Given the description of an element on the screen output the (x, y) to click on. 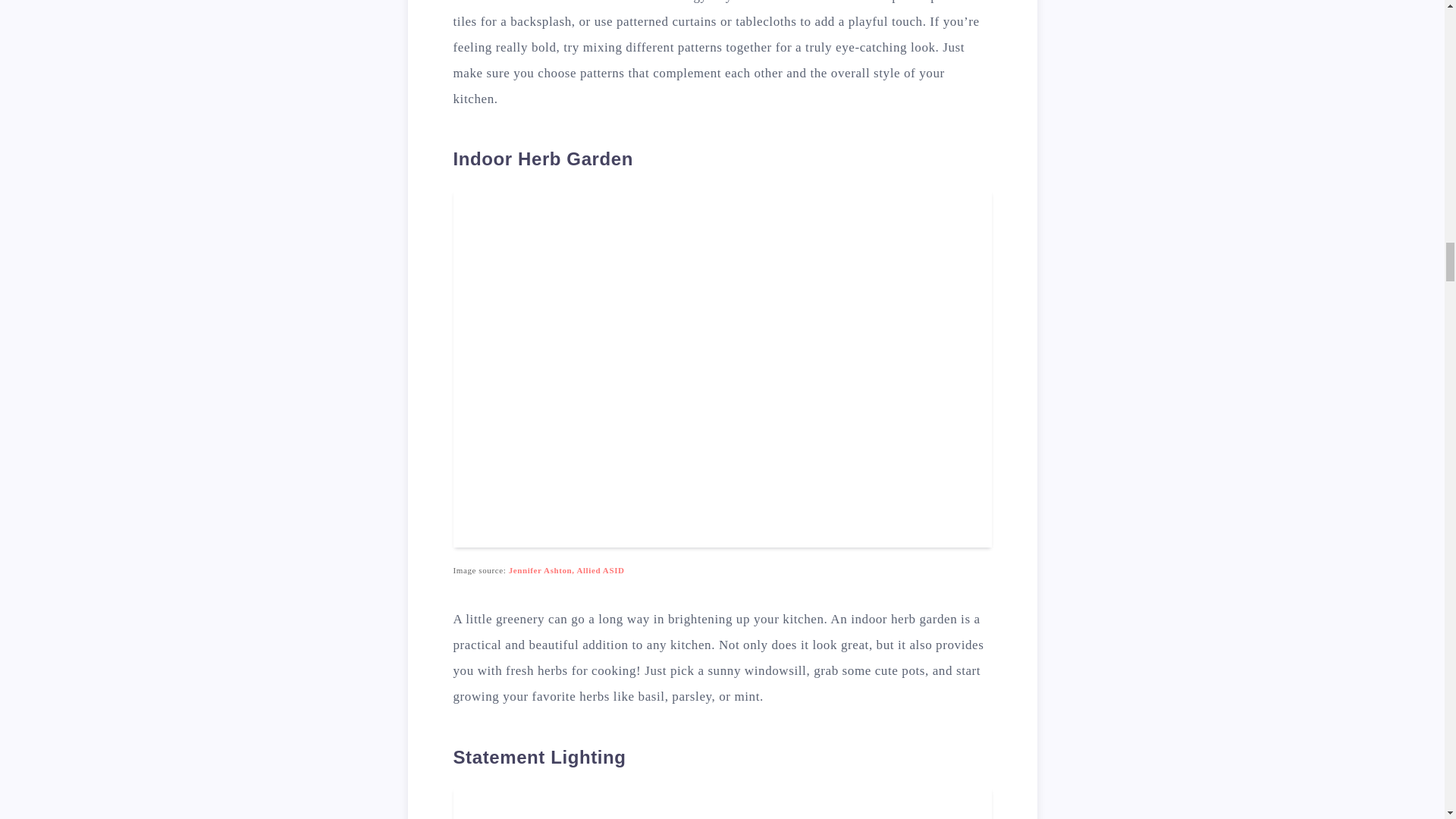
Jennifer Ashton, Allied ASID (566, 569)
